Given the description of an element on the screen output the (x, y) to click on. 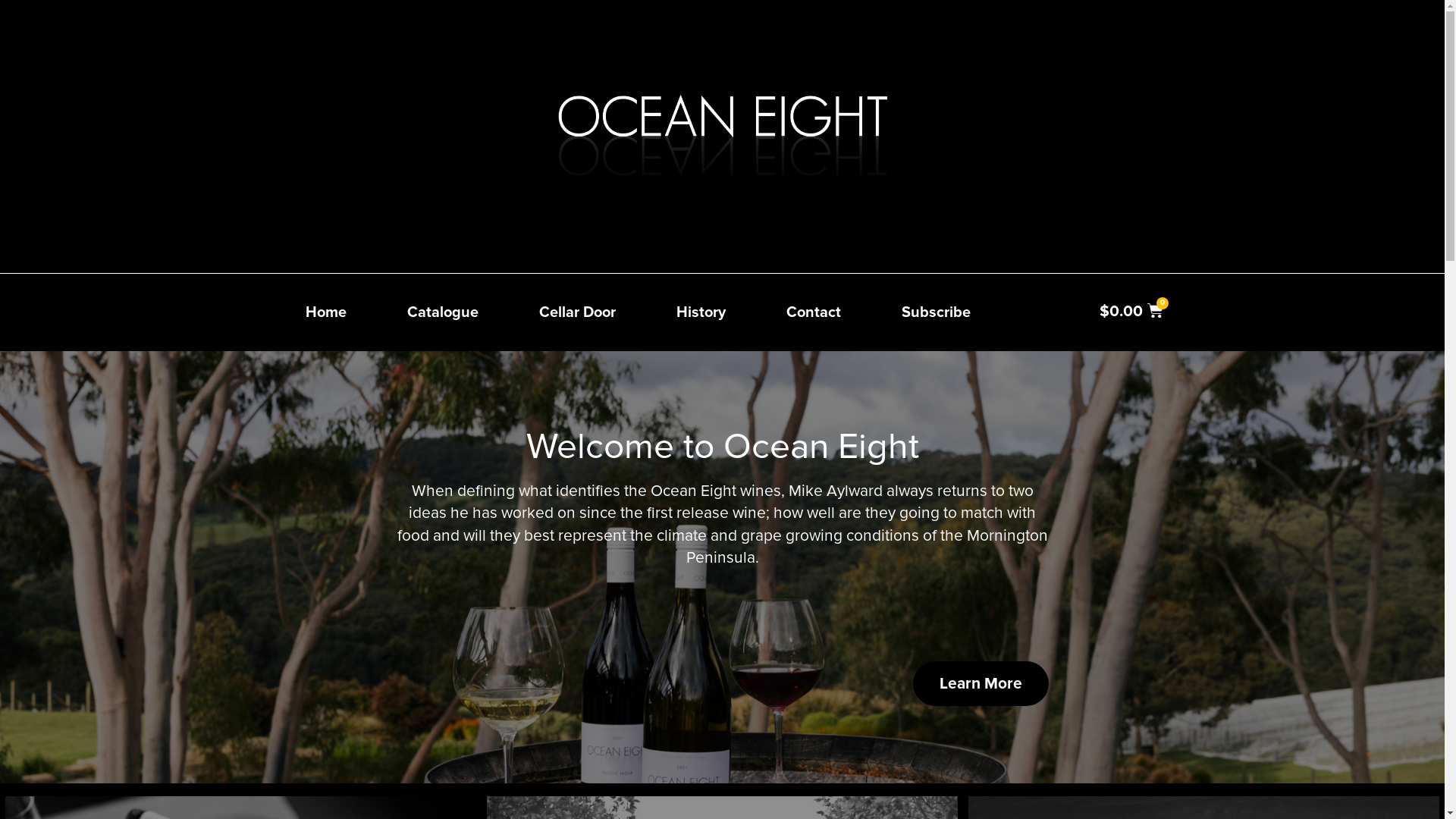
Home Element type: text (325, 312)
Contact Element type: text (812, 312)
History Element type: text (701, 312)
$0.00
0 Element type: text (1131, 310)
Cellar Door Element type: text (576, 312)
Catalogue Element type: text (442, 312)
Subscribe Element type: text (935, 312)
Learn More Element type: text (980, 683)
